Given the description of an element on the screen output the (x, y) to click on. 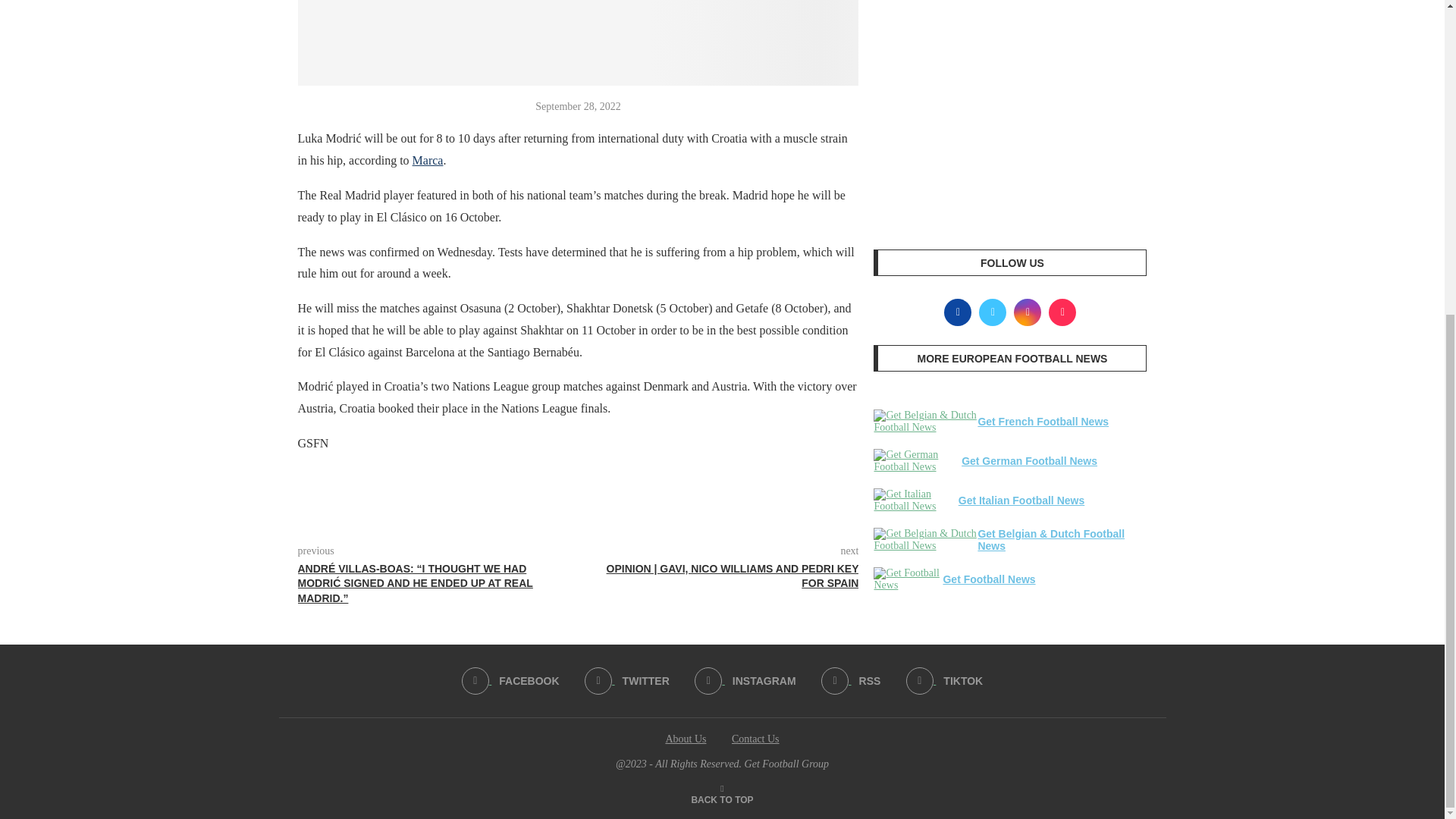
Get Italian Football News (915, 500)
Get Football News (907, 579)
Get French Football News (924, 421)
Get German Football News (916, 460)
